Given the description of an element on the screen output the (x, y) to click on. 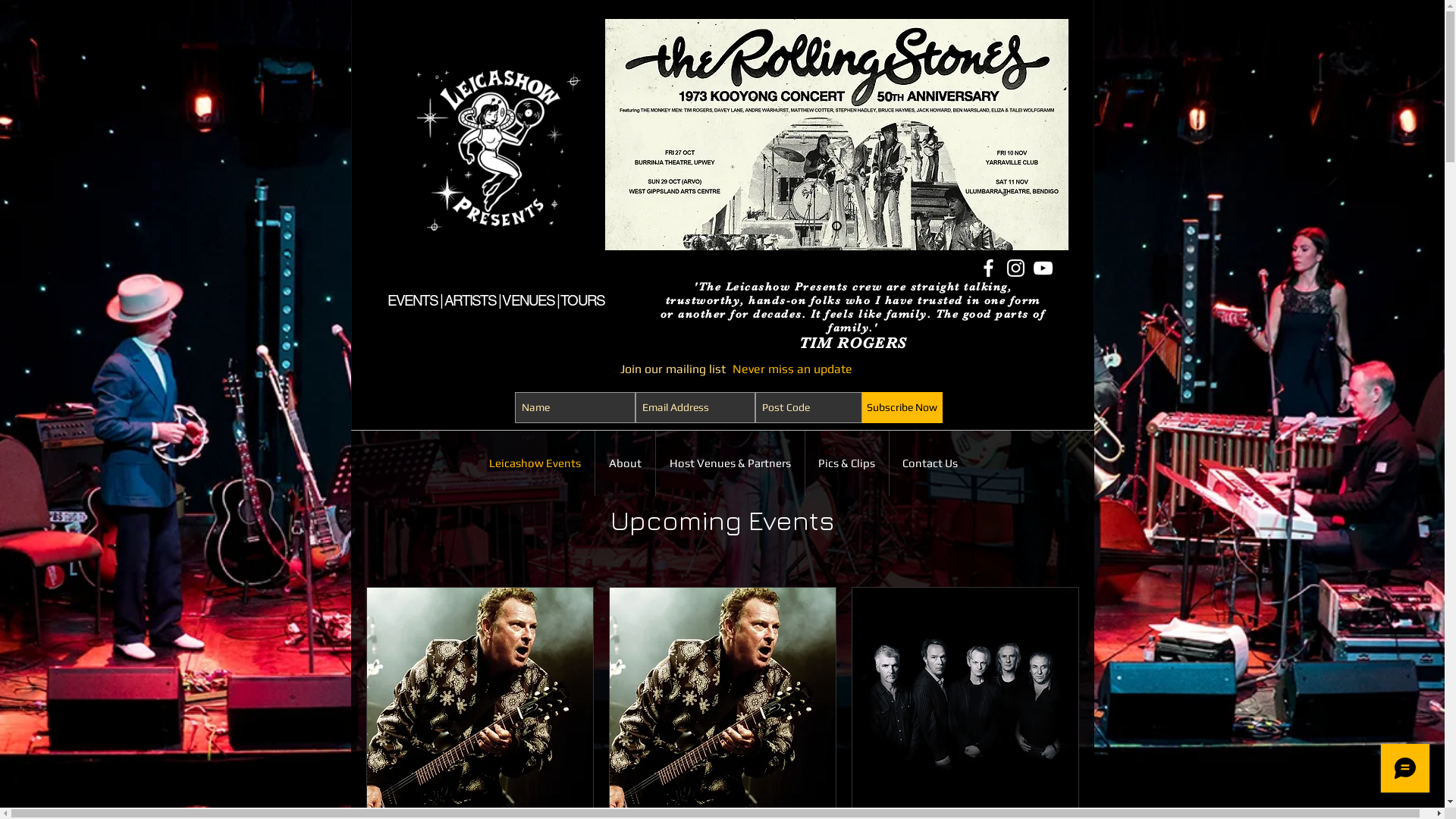
Wix Chat Element type: hover (1408, 771)
About Element type: text (624, 462)
Leicashow Events Element type: text (533, 462)
Subscribe Now Element type: text (901, 407)
Host Venues & Partners Element type: text (729, 462)
Pics & Clips Element type: text (846, 462)
Contact Us Element type: text (929, 462)
